Given the description of an element on the screen output the (x, y) to click on. 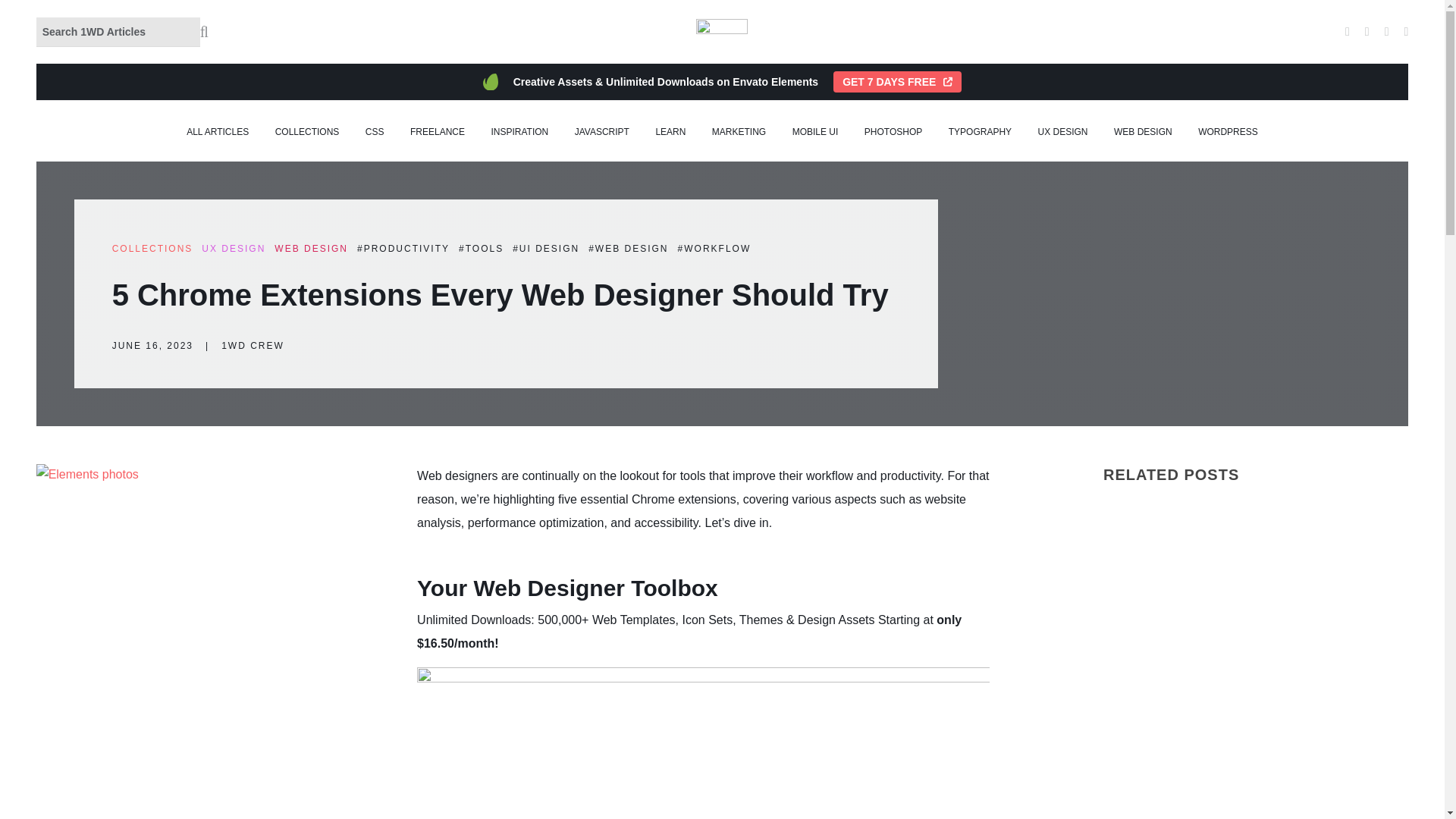
TYPOGRAPHY (980, 131)
INSPIRATION (519, 131)
WORDPRESS (1227, 131)
1stWebDesigner (721, 31)
PHOTOSHOP (892, 131)
COLLECTIONS (307, 131)
ALL ARTICLES (217, 131)
LEARN (670, 131)
WEB DESIGN (1142, 131)
UX DESIGN (1062, 131)
